Given the description of an element on the screen output the (x, y) to click on. 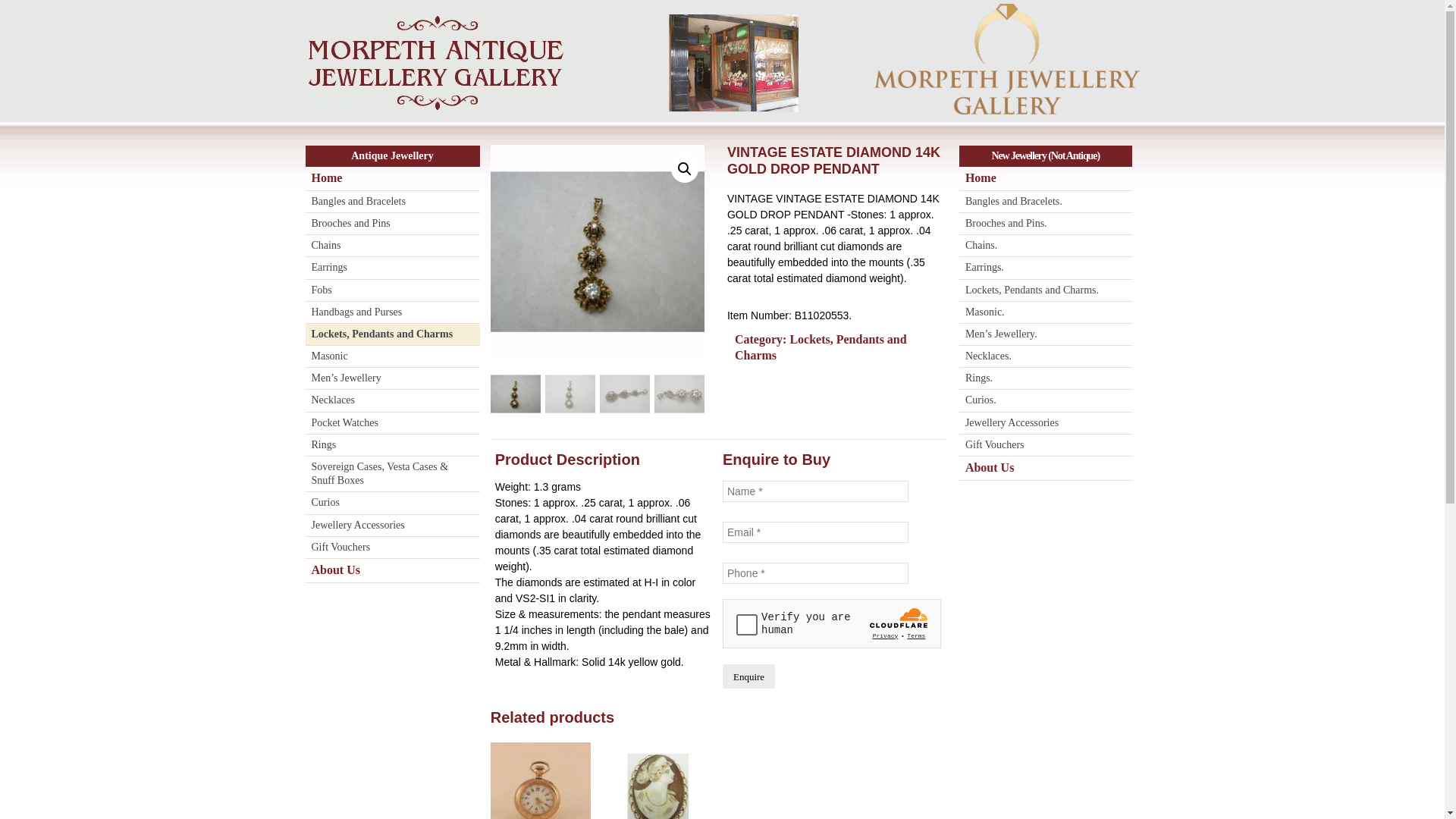
Rings Element type: text (391, 445)
Lockets, Pendants and Charms Element type: text (391, 334)
Chains Element type: text (391, 246)
263-641-thickbox Element type: hover (811, 251)
Jewellery Accessories Element type: text (1045, 423)
Handbags and Purses Element type: text (391, 312)
Pocket Watches Element type: text (391, 423)
Earrings Element type: text (391, 268)
Necklaces Element type: text (391, 400)
Lockets, Pendants and Charms. Element type: text (1045, 290)
Necklaces. Element type: text (1045, 356)
Masonic Element type: text (391, 356)
Lockets, Pendants and Charms Element type: text (820, 346)
Home Element type: text (1045, 178)
Brooches and Pins Element type: text (391, 224)
Curios Element type: text (391, 503)
Gift Vouchers Element type: text (391, 547)
Enquire Element type: text (748, 676)
Bangles and Bracelets Element type: text (391, 202)
Masonic. Element type: text (1045, 312)
Fobs Element type: text (391, 290)
Rings. Element type: text (1045, 378)
Earrings. Element type: text (1045, 268)
Bangles and Bracelets. Element type: text (1045, 202)
Curios. Element type: text (1045, 400)
Home Element type: text (391, 178)
About Us Element type: text (391, 570)
Sovereign Cases, Vesta Cases & Snuff Boxes Element type: text (391, 474)
263-641-thickbox Element type: hover (597, 251)
Chains. Element type: text (1045, 246)
About Us Element type: text (1045, 468)
Jewellery Accessories Element type: text (391, 525)
Gift Vouchers Element type: text (1045, 445)
Brooches and Pins. Element type: text (1045, 224)
Widget containing a Cloudflare security challenge Element type: hover (831, 623)
